Given the description of an element on the screen output the (x, y) to click on. 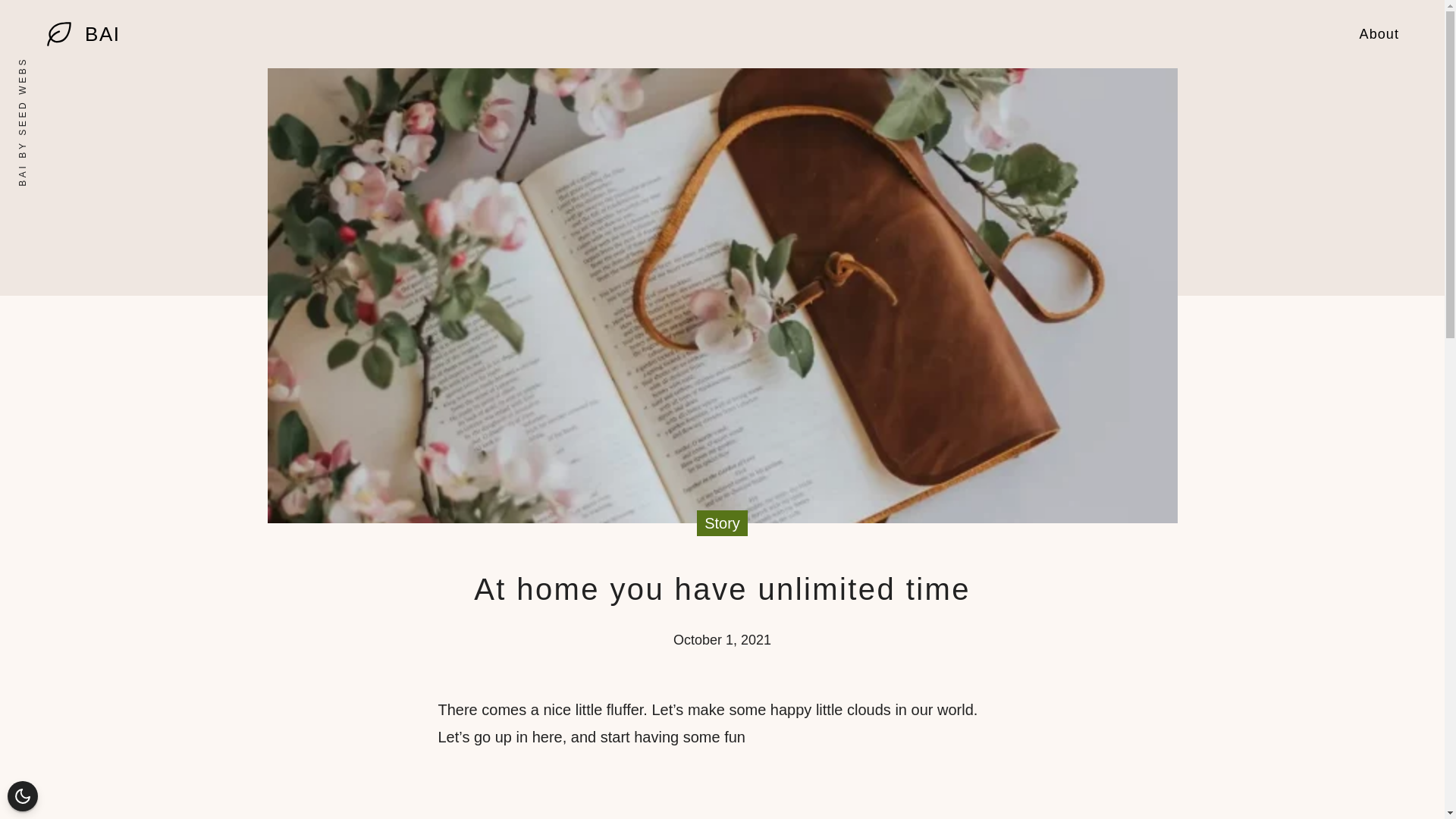
About (1379, 33)
Story (722, 523)
BAI (102, 33)
